Given the description of an element on the screen output the (x, y) to click on. 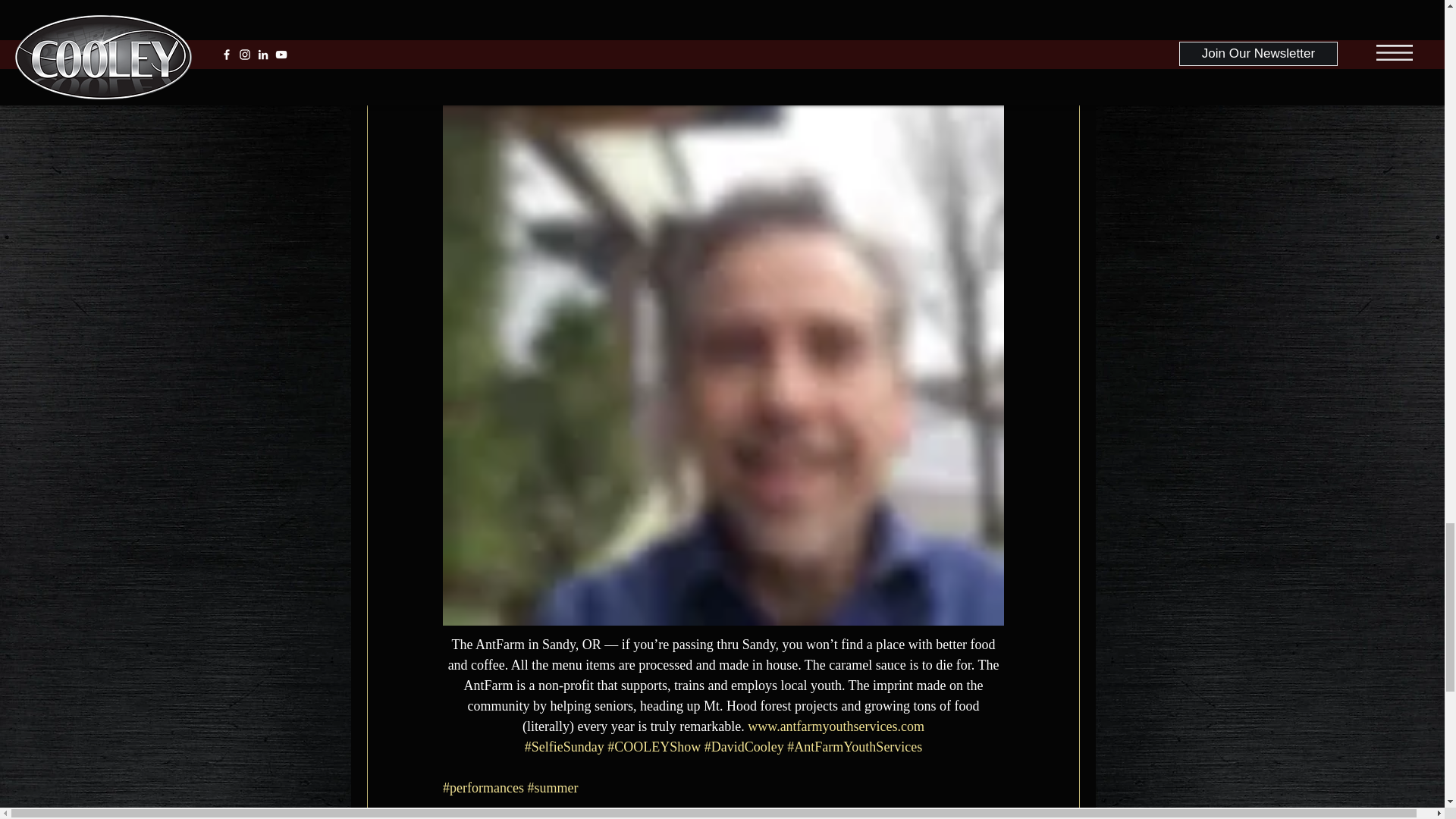
www.antfarmyouthservices.com (836, 726)
